Given the description of an element on the screen output the (x, y) to click on. 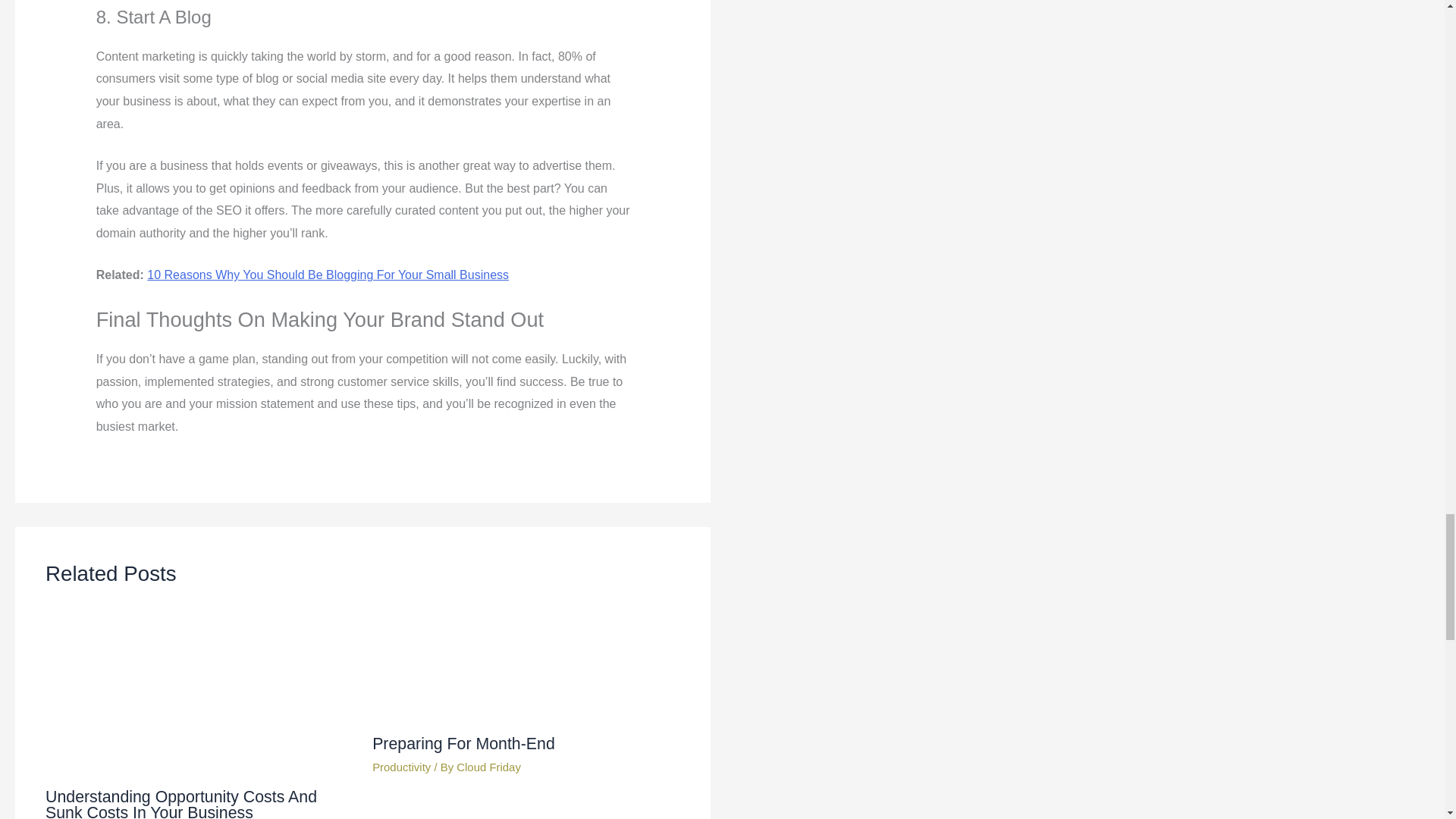
Cloud Friday (489, 766)
Productivity (401, 766)
View all posts by Cloud Friday (489, 766)
Preparing For Month-End (463, 743)
